Given the description of an element on the screen output the (x, y) to click on. 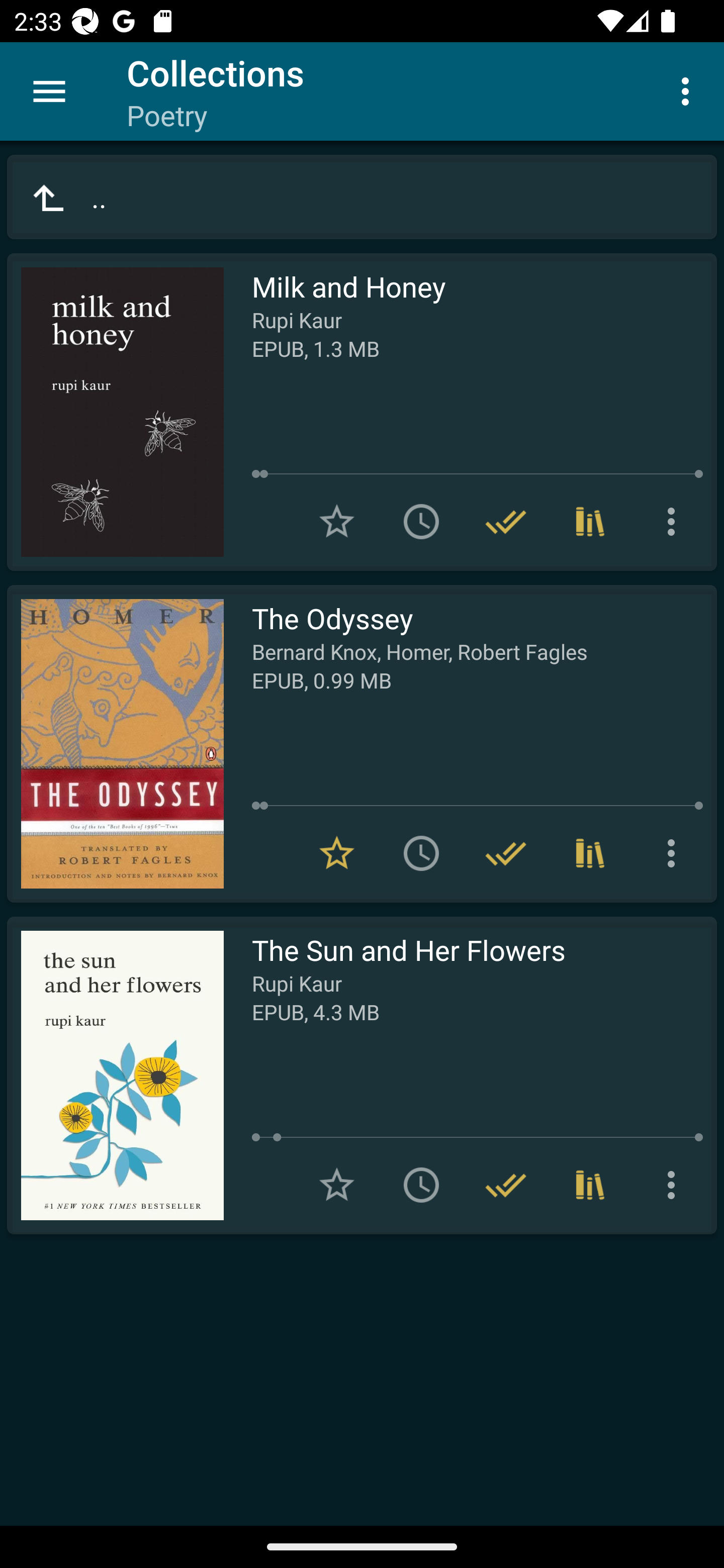
Menu (49, 91)
More options (688, 90)
.. (361, 197)
Read Milk and Honey (115, 412)
Add to Favorites (336, 521)
Add to To read (421, 521)
Remove from Have read (505, 521)
Collections (4) (590, 521)
More options (674, 521)
Read The Odyssey (115, 743)
Remove from Favorites (336, 852)
Add to To read (421, 852)
Remove from Have read (505, 852)
Collections (3) (590, 852)
More options (674, 852)
Read The Sun and Her Flowers (115, 1075)
Add to Favorites (336, 1185)
Add to To read (421, 1185)
Remove from Have read (505, 1185)
Collections (1) (590, 1185)
More options (674, 1185)
